Given the description of an element on the screen output the (x, y) to click on. 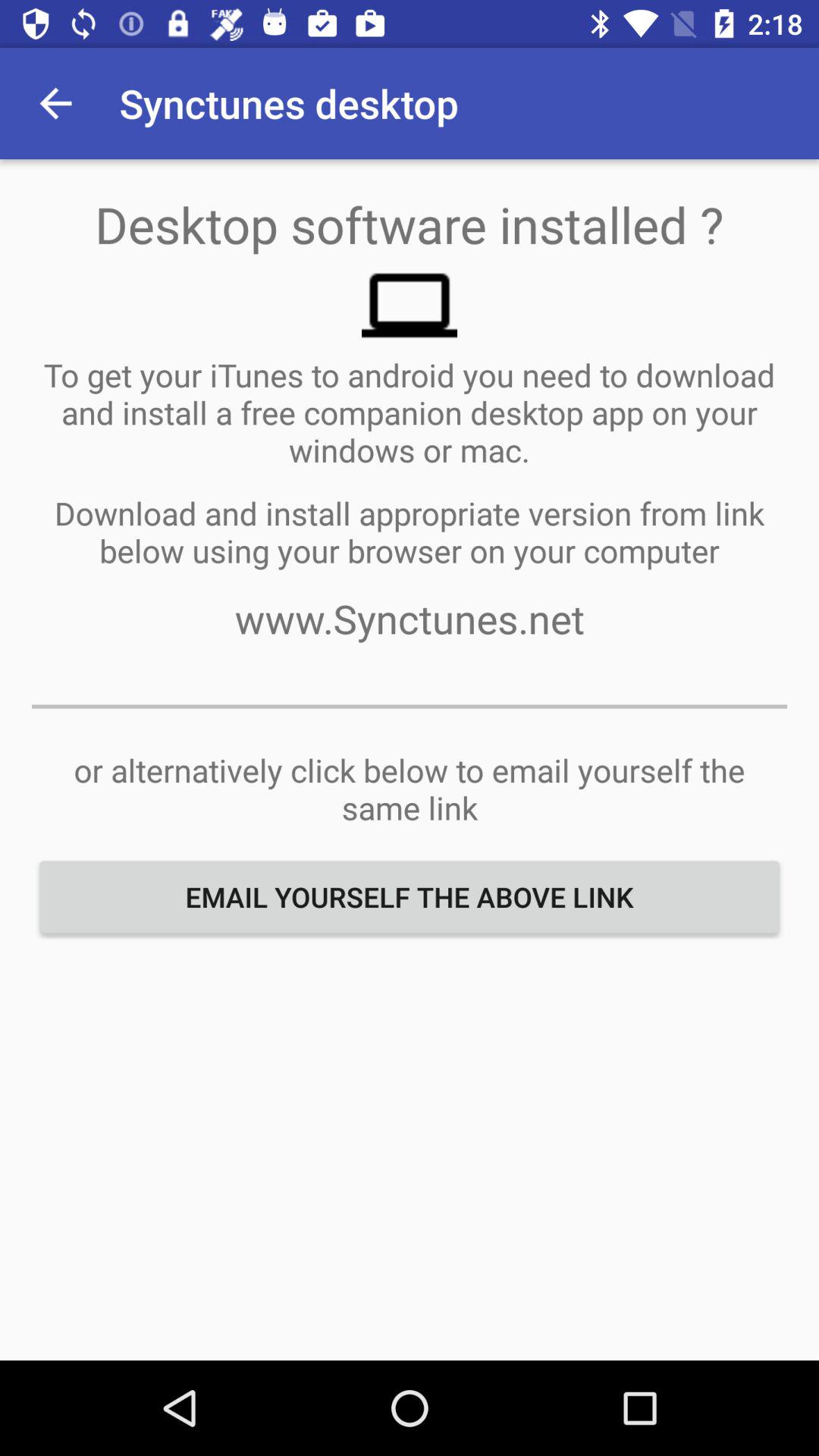
click icon to the left of synctunes desktop app (55, 103)
